Given the description of an element on the screen output the (x, y) to click on. 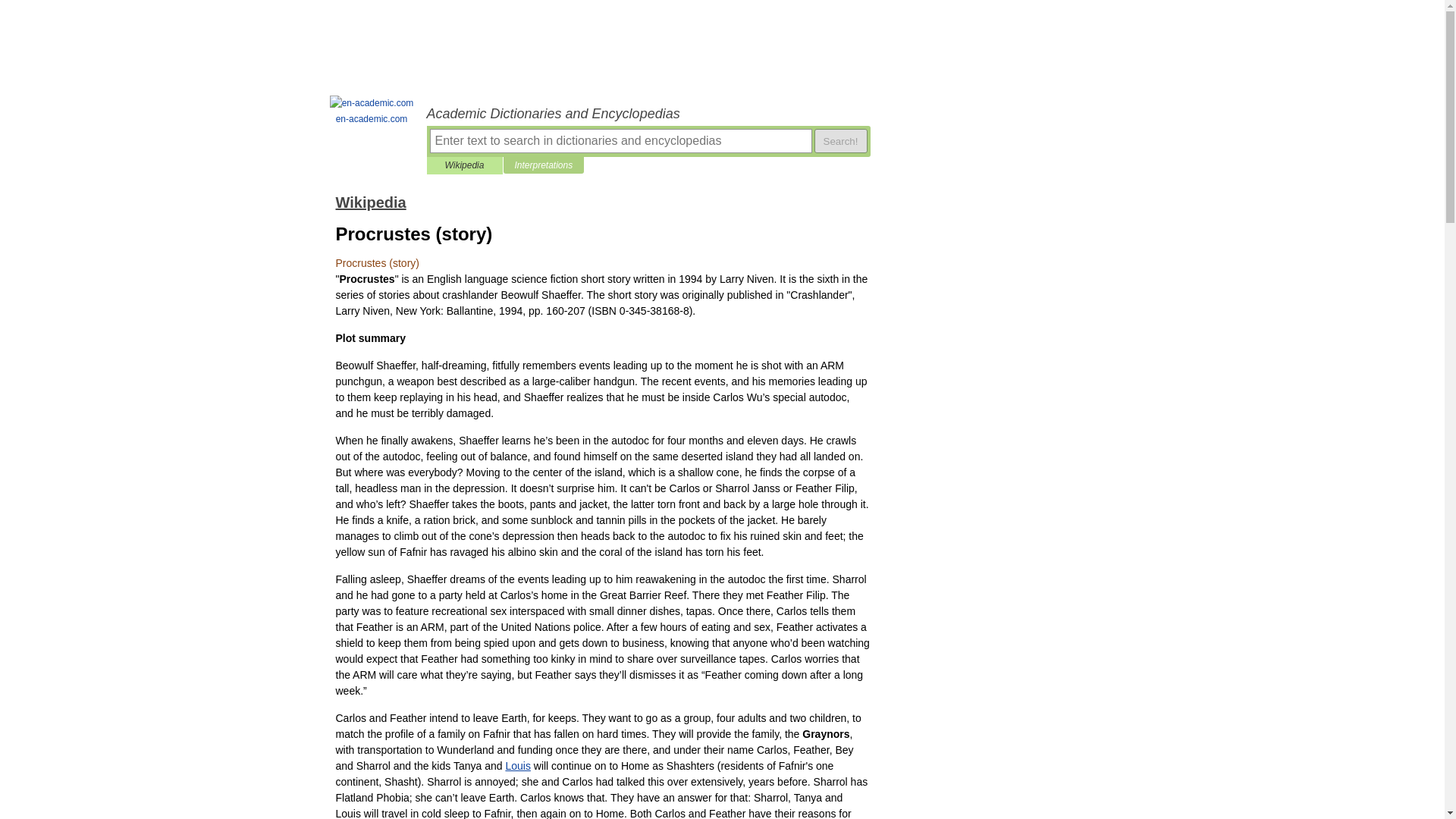
Louis (517, 766)
en-academic.com (371, 111)
Enter text to search in dictionaries and encyclopedias (619, 140)
Wikipedia (370, 202)
Academic Dictionaries and Encyclopedias (647, 114)
Wikipedia (465, 165)
Search! (840, 140)
Interpretations (542, 165)
